Given the description of an element on the screen output the (x, y) to click on. 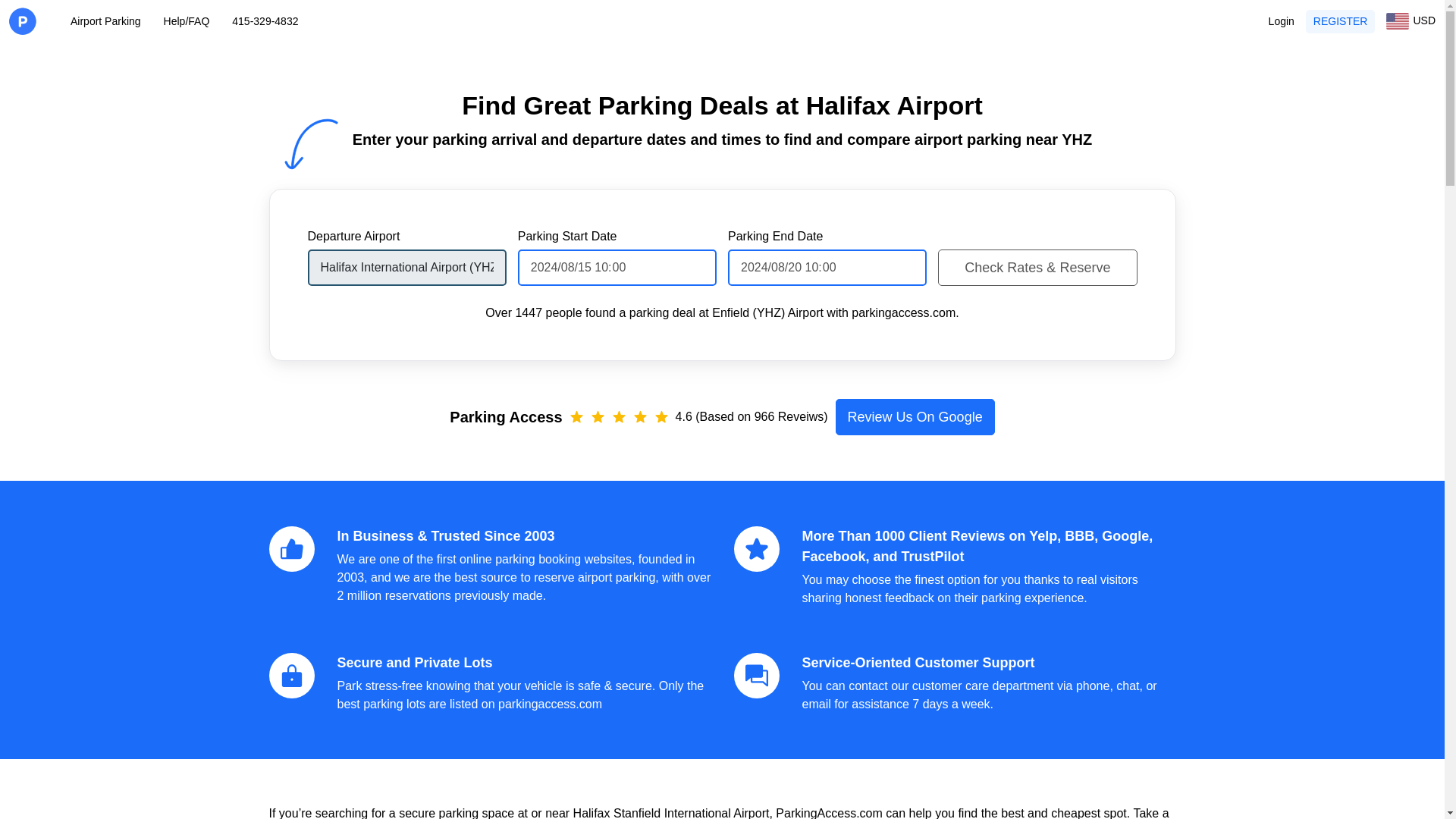
Login (1281, 21)
USD (1410, 21)
Airport Parking (105, 21)
415-329-4832 (264, 21)
2024-08-15T10:00 (617, 267)
2024-08-20T10:00 (827, 267)
REGISTER (1340, 20)
